Given the description of an element on the screen output the (x, y) to click on. 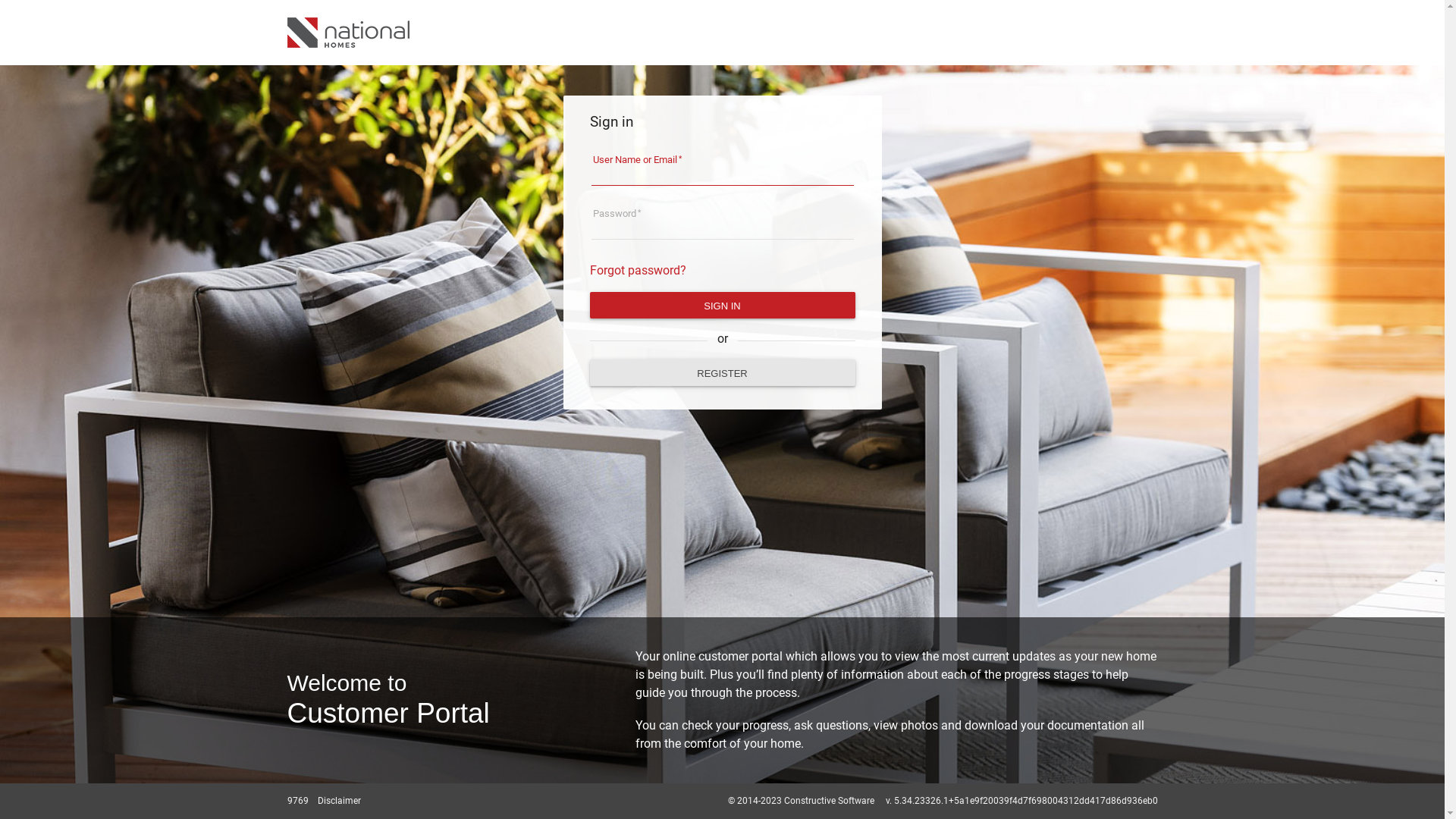
SIGN IN Element type: text (722, 304)
Constructive Software Element type: text (837, 800)
REGISTER Element type: text (722, 372)
Disclaimer Element type: text (338, 800)
Forgot password? Element type: text (638, 269)
